Given the description of an element on the screen output the (x, y) to click on. 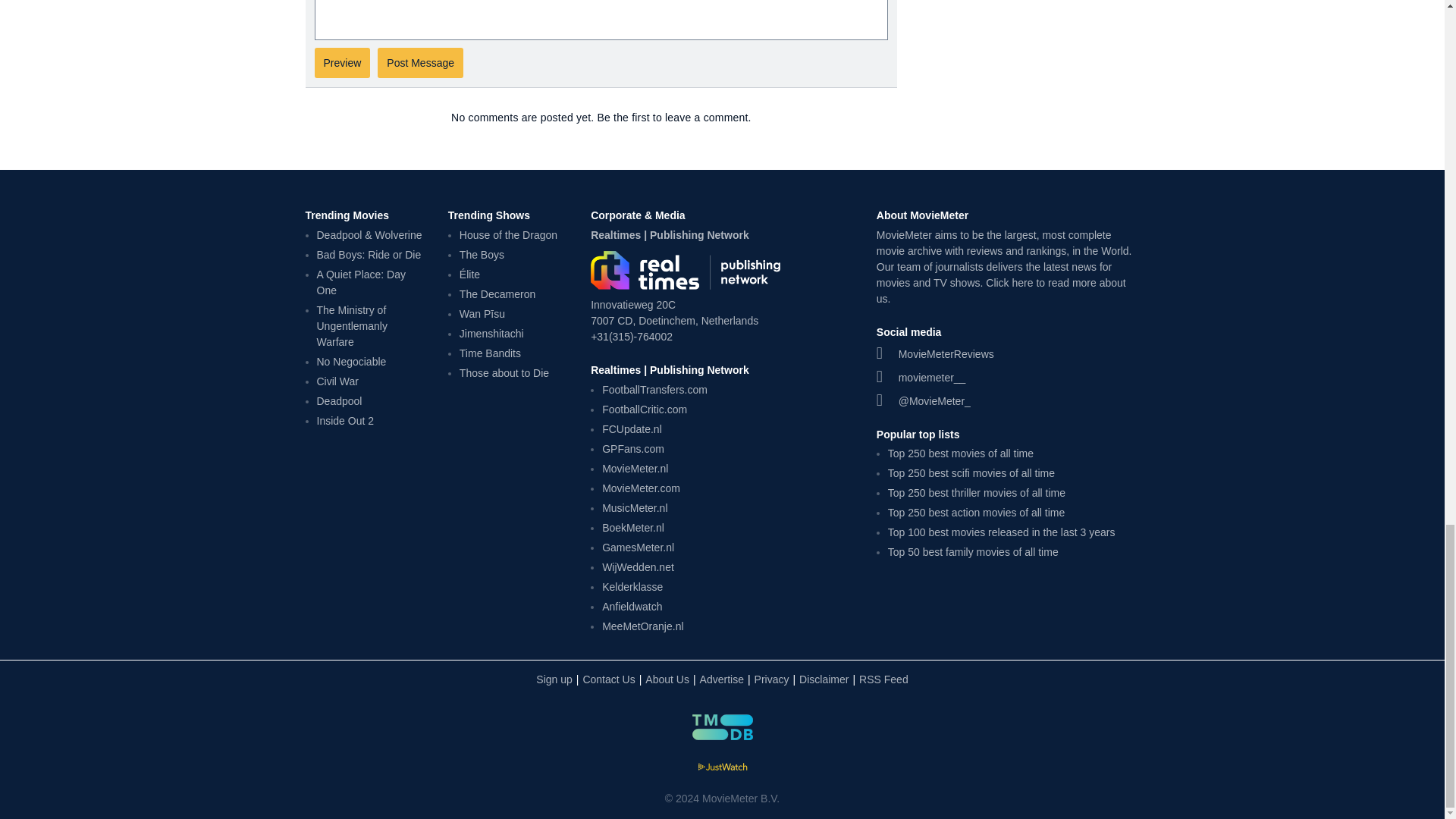
Preview (341, 62)
Post Message (420, 62)
